Given the description of an element on the screen output the (x, y) to click on. 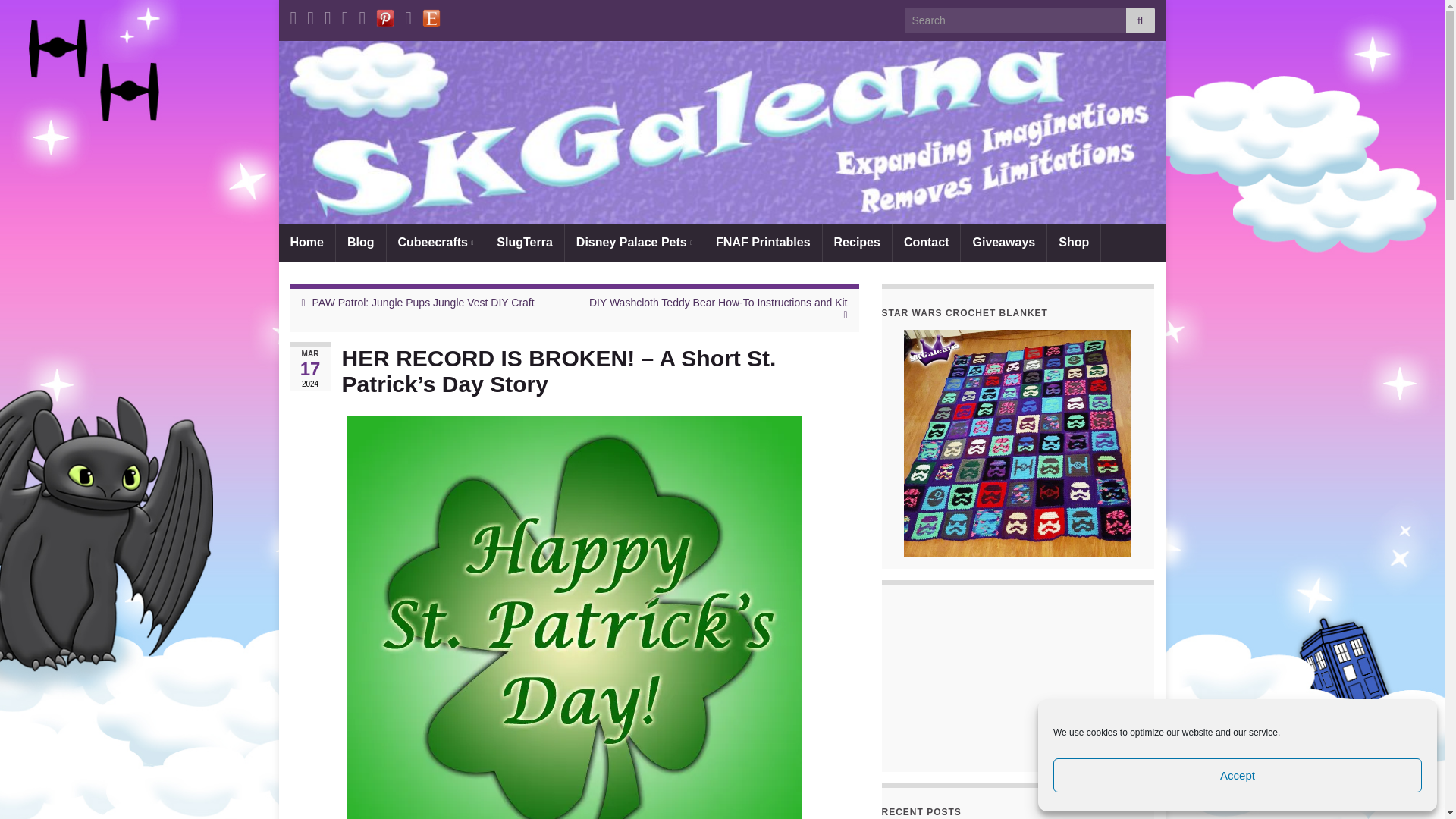
Blog (360, 242)
Accept (1237, 775)
Pintrest (384, 15)
Cubeecrafts (435, 242)
Advertisement (1017, 679)
Home (306, 242)
